Given the description of an element on the screen output the (x, y) to click on. 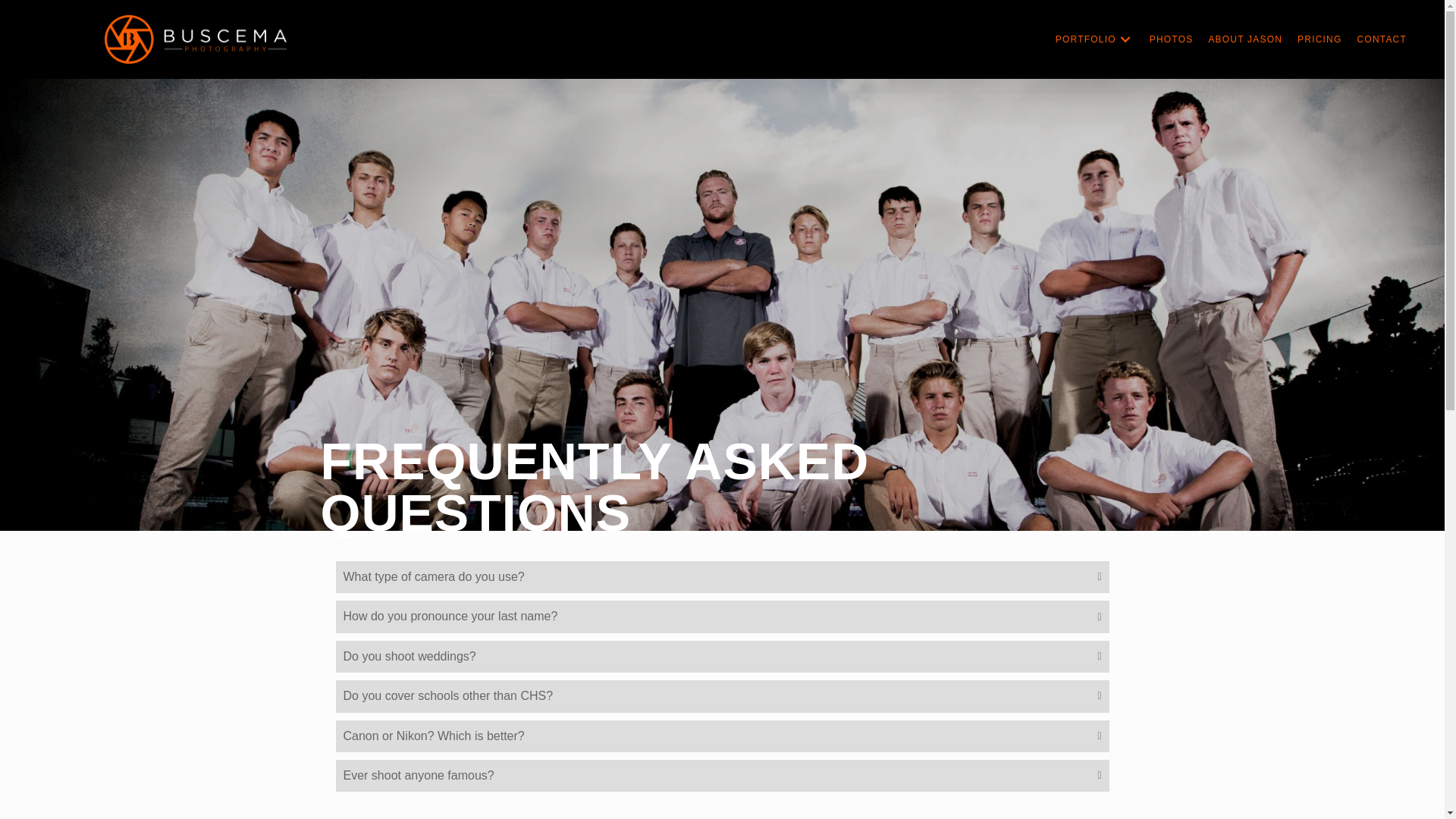
PRICING (1319, 39)
ABOUT JASON (1244, 39)
CONTACT (1381, 39)
Buscema Photography logo H color white (195, 39)
PORTFOLIO (1094, 39)
PHOTOS (1171, 39)
